Given the description of an element on the screen output the (x, y) to click on. 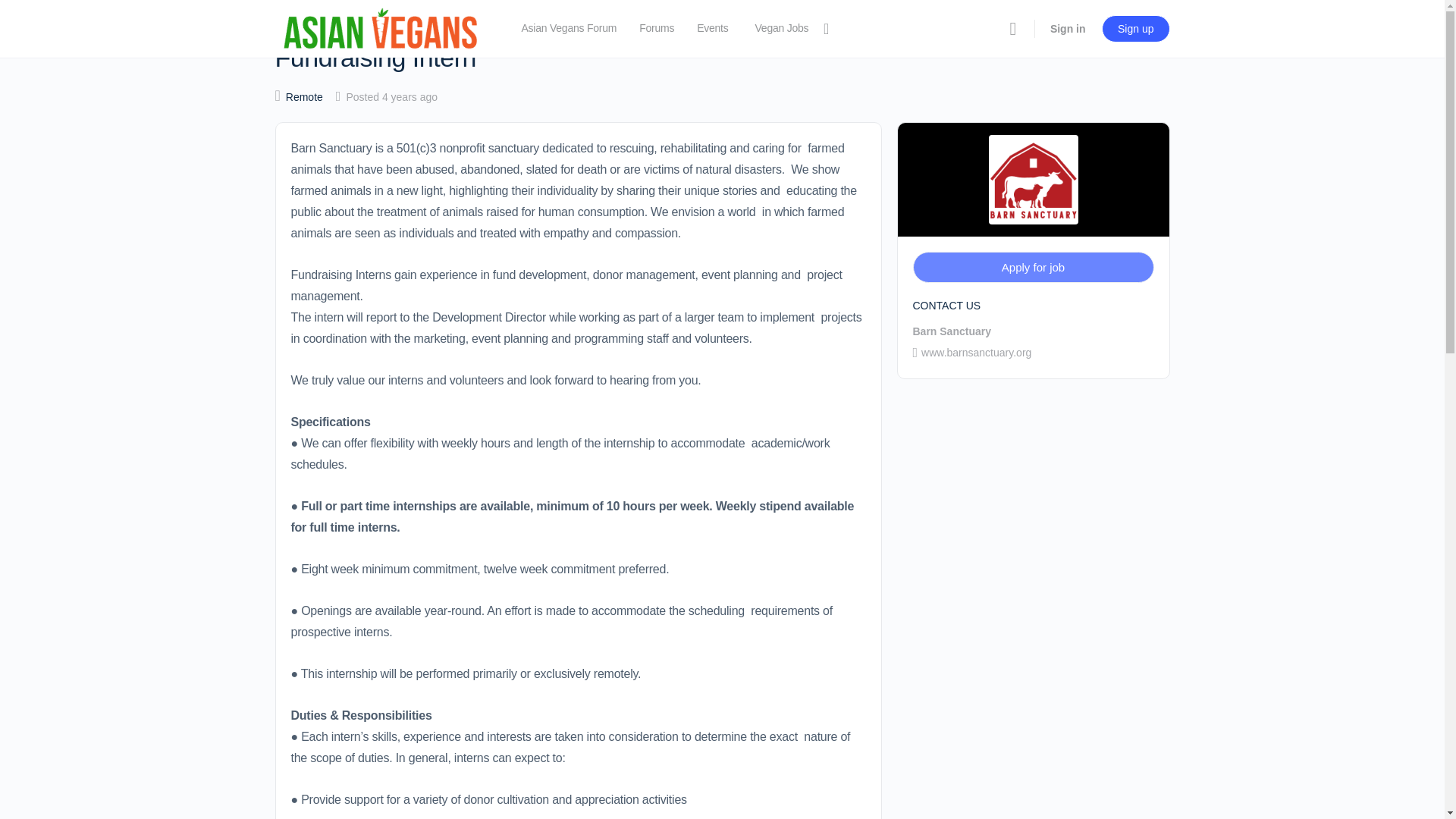
Asian Vegans Forum (568, 28)
Apply for job (1033, 266)
Remote (304, 96)
www.barnsanctuary.org (972, 352)
Vegan Jobs (788, 28)
Sign in (1067, 28)
Sign up (1135, 28)
